Given the description of an element on the screen output the (x, y) to click on. 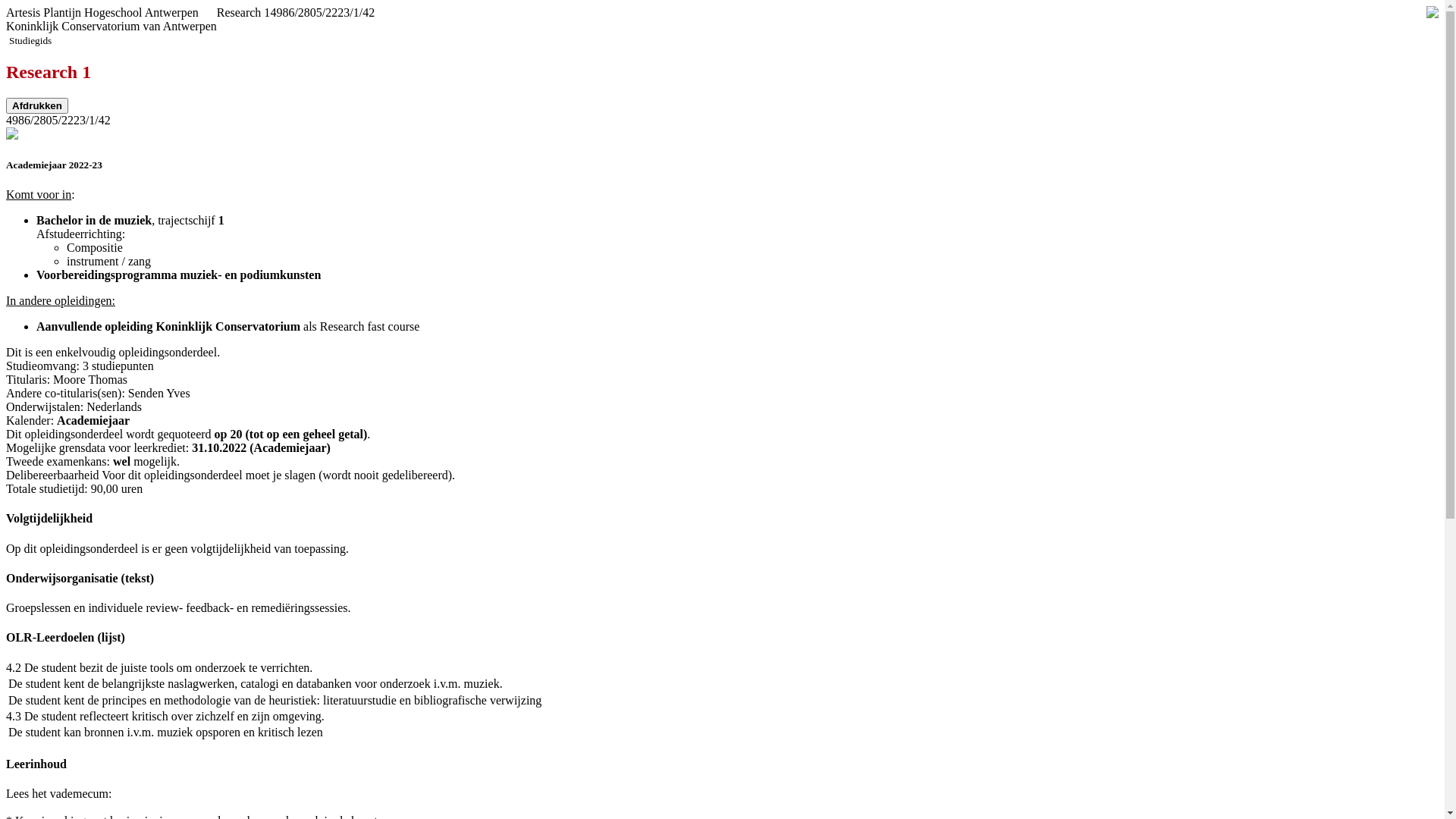
Research fast course Element type: text (370, 326)
Afdrukken Element type: text (37, 105)
